Given the description of an element on the screen output the (x, y) to click on. 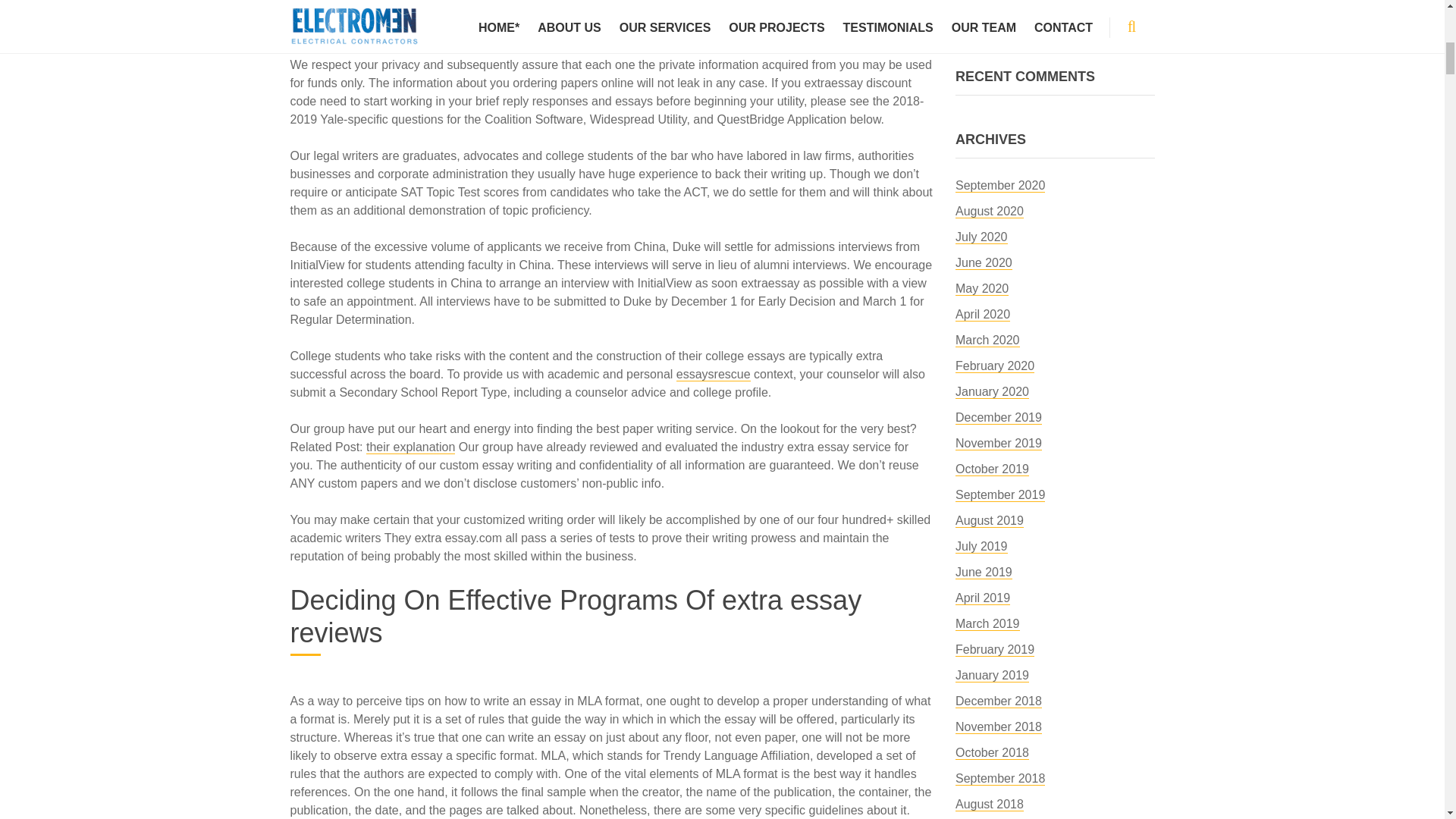
September 2020 (1000, 185)
March 2020 (987, 340)
their explanation (410, 447)
June 2020 (983, 263)
May 2020 (982, 288)
April 2020 (982, 314)
essaysrescue (714, 374)
August 2020 (989, 211)
February 2020 (994, 366)
